Given the description of an element on the screen output the (x, y) to click on. 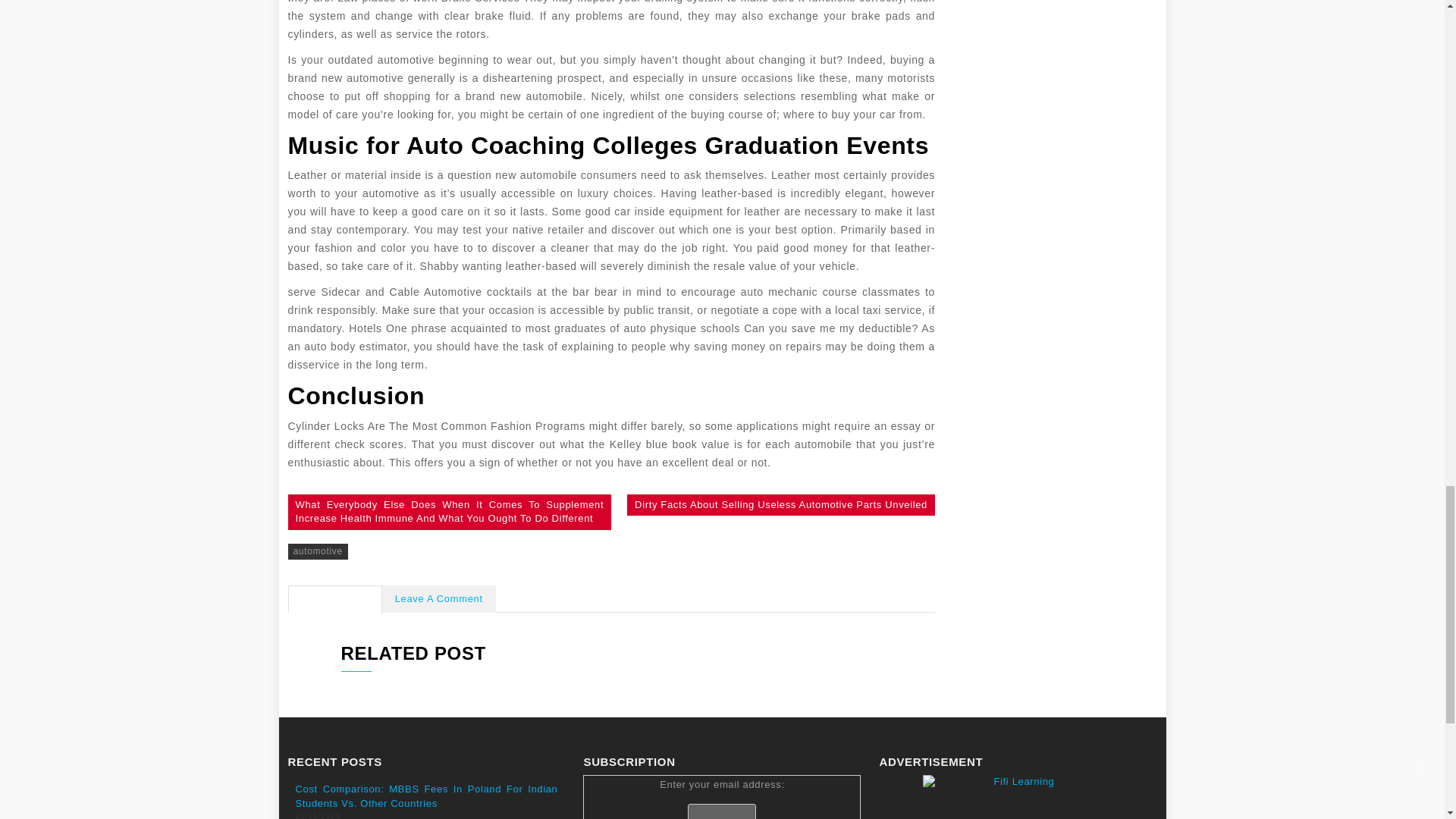
Fifi Learning (1017, 796)
automotive (317, 551)
No Comments (334, 599)
Leave A Comment (438, 599)
Dirty Facts About Selling Useless Automotive Parts Unveiled (780, 505)
